Given the description of an element on the screen output the (x, y) to click on. 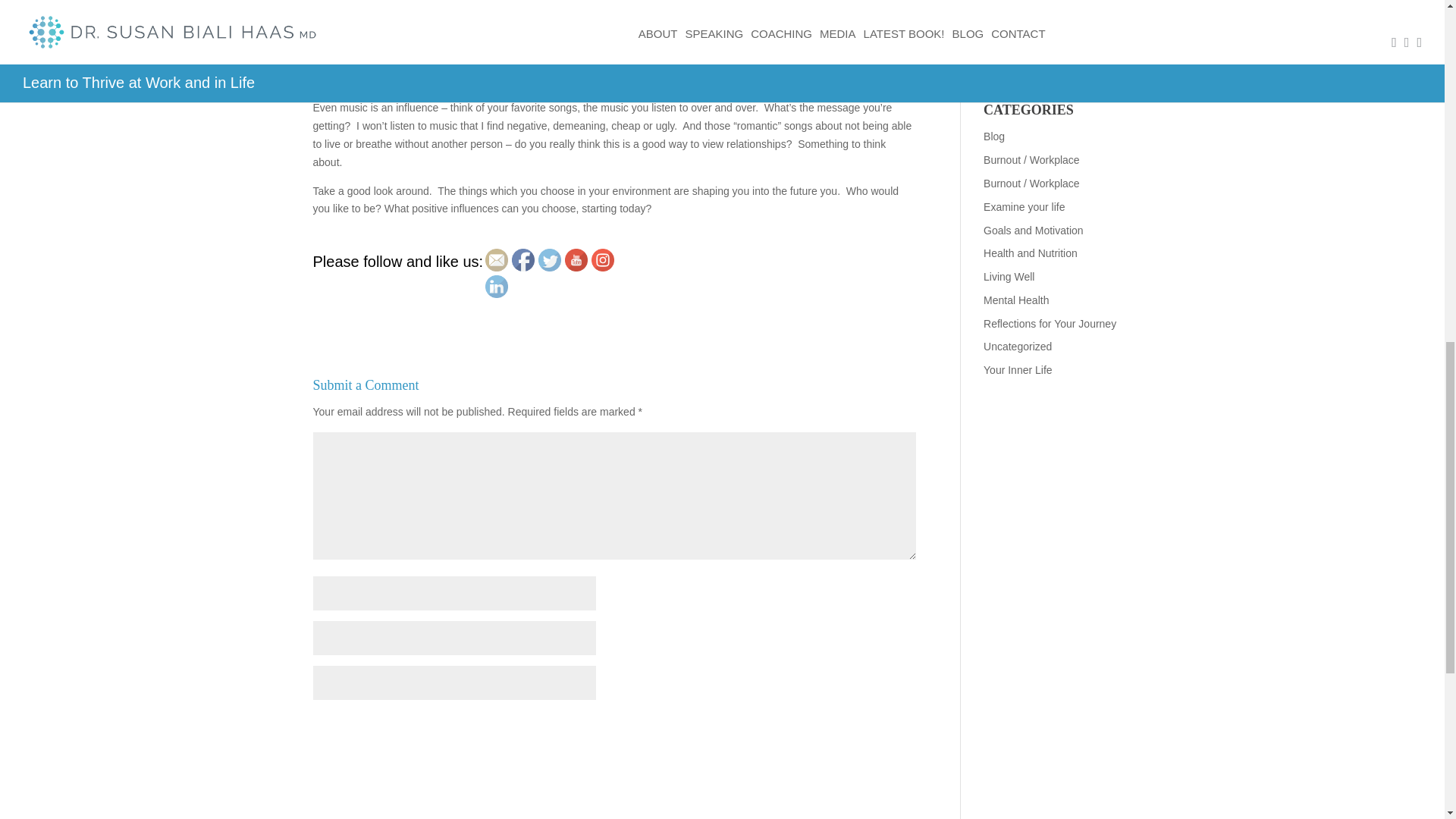
Follow by Email (496, 259)
Blog (994, 136)
Facebook (523, 259)
Submit Comment (840, 729)
Retrain Your Brain to Heal Anxiety (1045, 59)
Submit Comment (840, 729)
Twitter (549, 259)
